Given the description of an element on the screen output the (x, y) to click on. 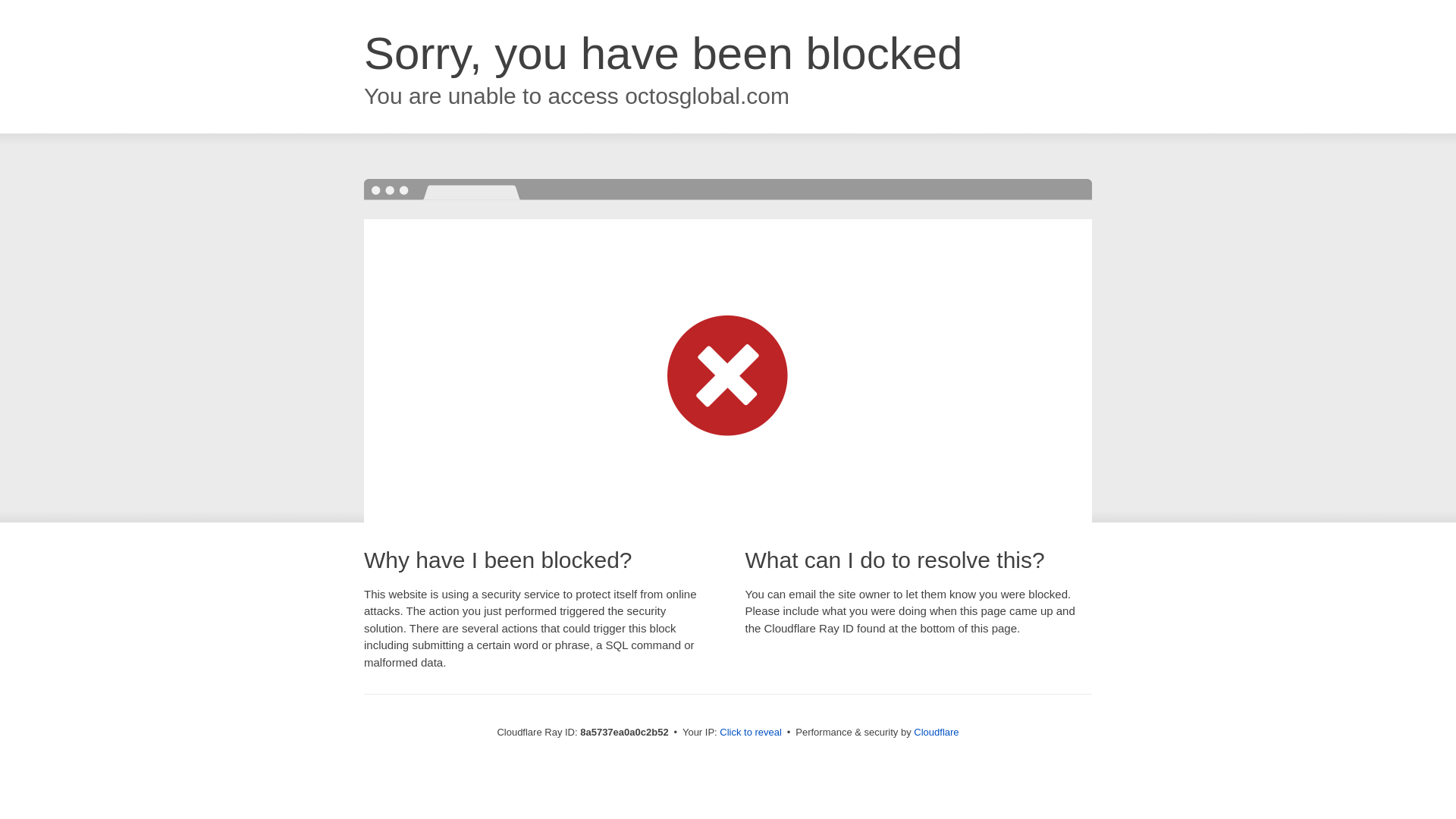
Cloudflare (936, 731)
Click to reveal (750, 732)
